Given the description of an element on the screen output the (x, y) to click on. 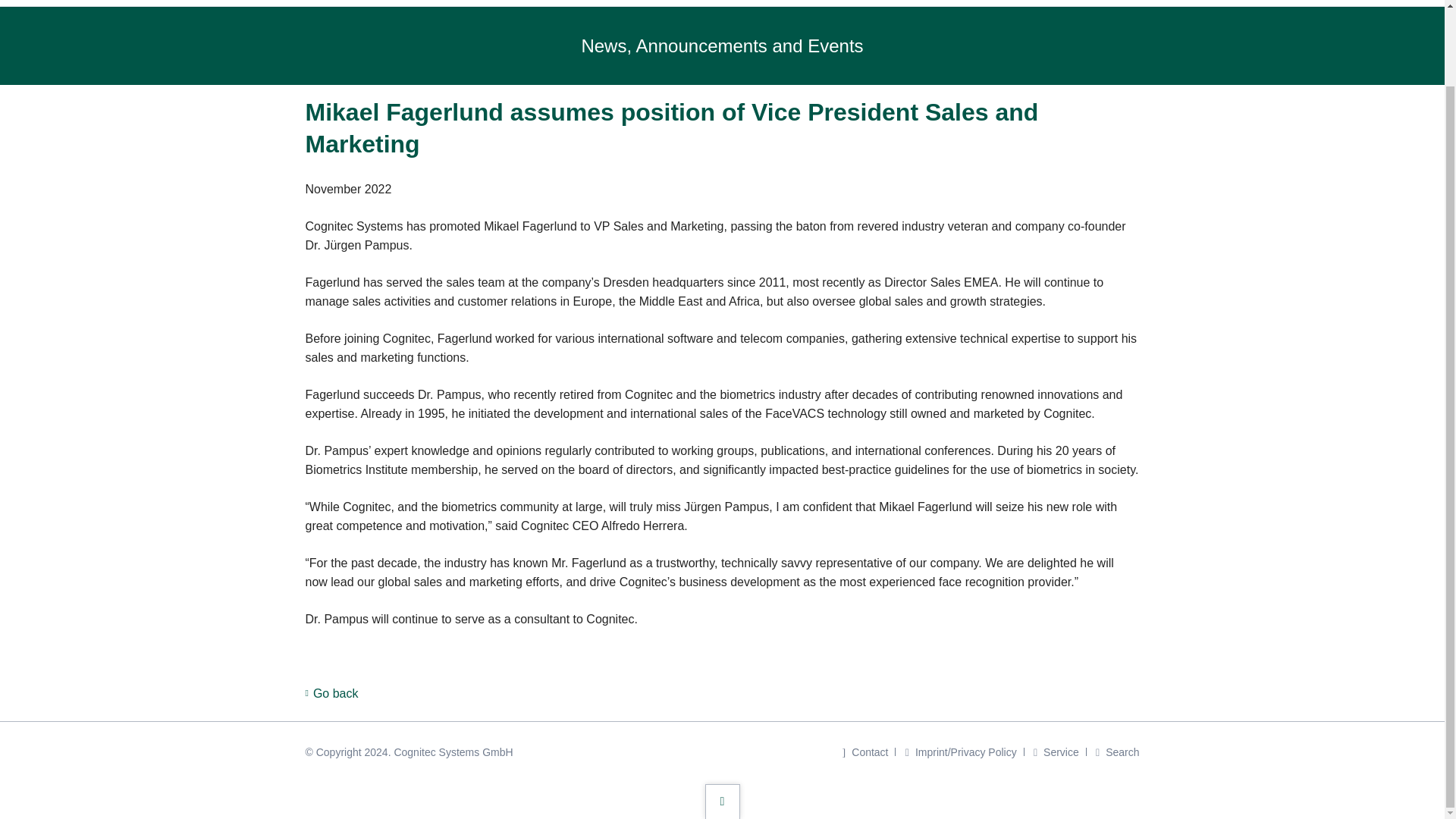
Products (690, 2)
Company (970, 2)
Home (613, 2)
Technology (879, 2)
Technology (879, 2)
The face recognition company (613, 2)
Applications (781, 2)
Products (690, 2)
Service (1051, 2)
Applications (781, 2)
